Given the description of an element on the screen output the (x, y) to click on. 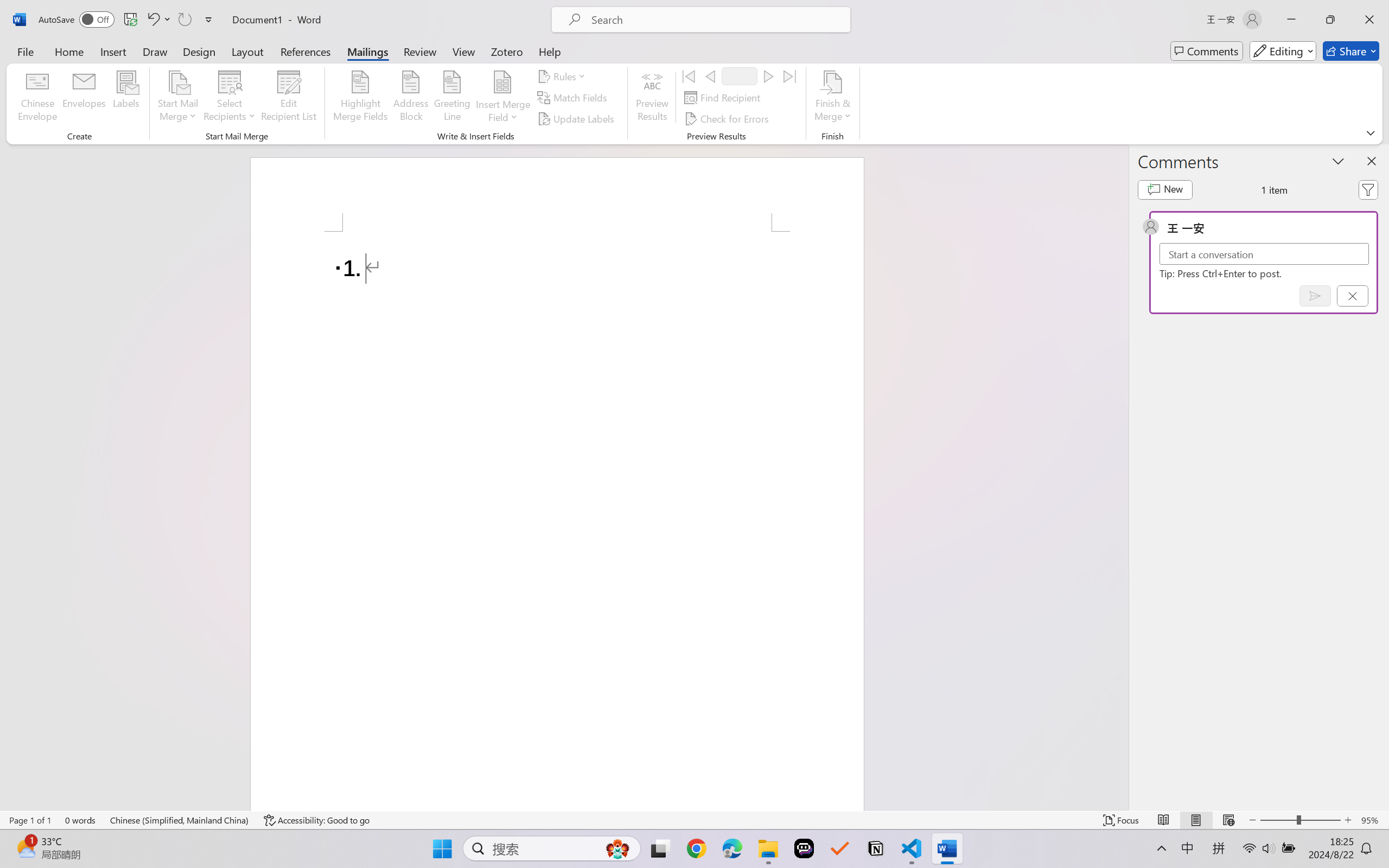
Find Recipient... (723, 97)
Last (790, 75)
Labels... (126, 97)
Language Chinese (Simplified, Mainland China) (179, 819)
Next (768, 75)
Envelopes... (84, 97)
Undo Number Default (158, 19)
